Given the description of an element on the screen output the (x, y) to click on. 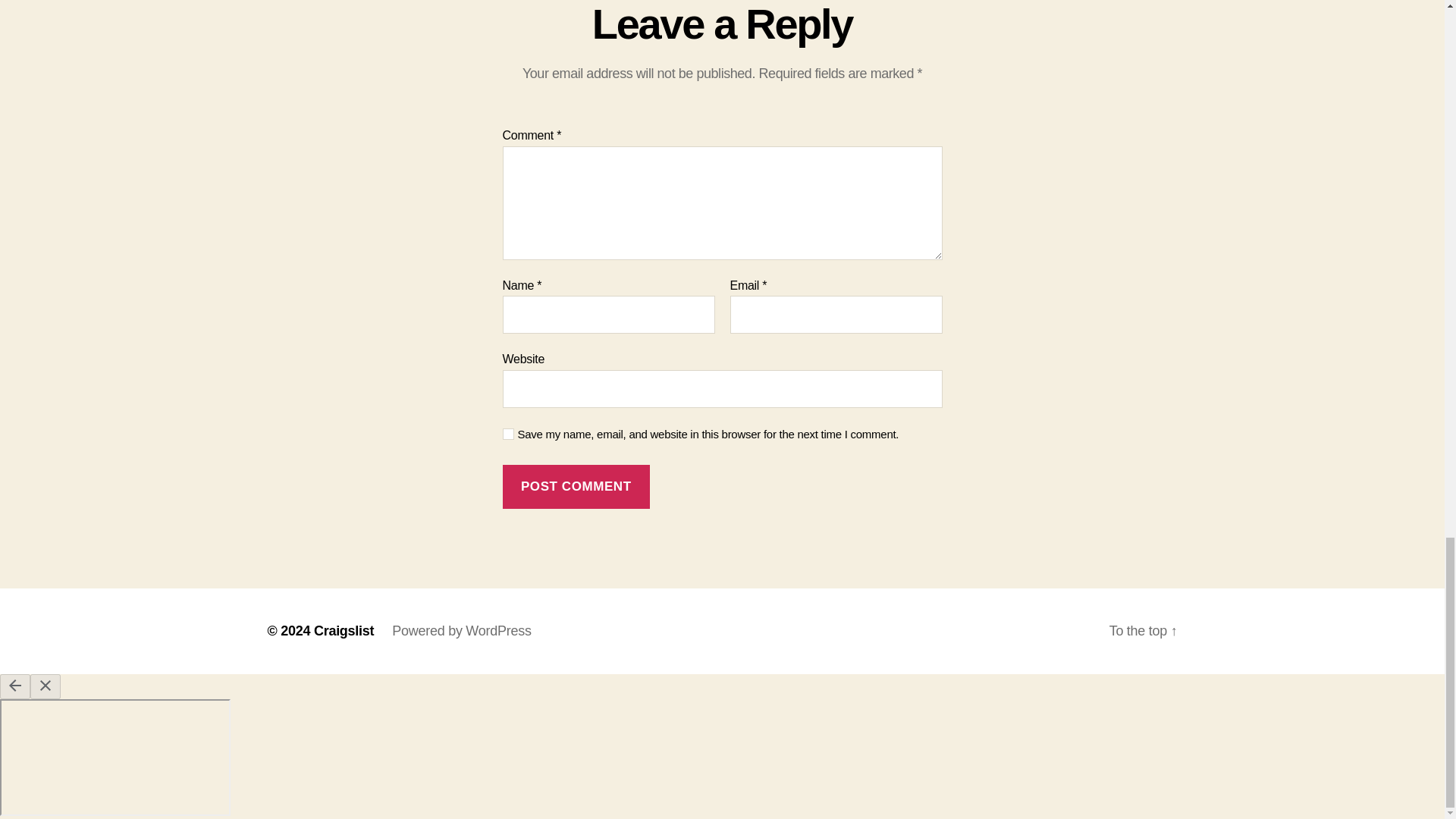
yes (507, 433)
Post Comment (575, 487)
